Given the description of an element on the screen output the (x, y) to click on. 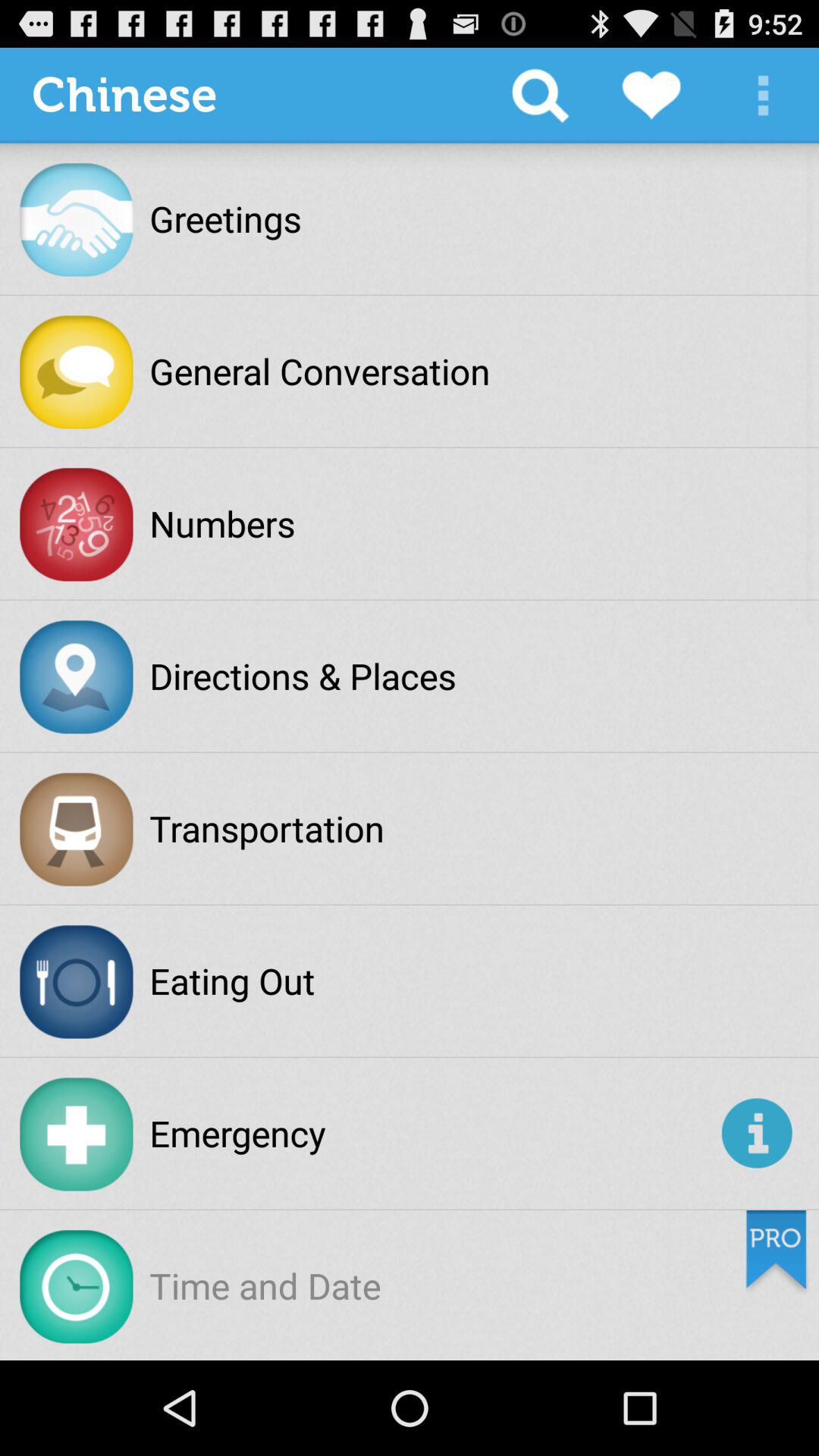
jump to the emergency app (432, 1133)
